Given the description of an element on the screen output the (x, y) to click on. 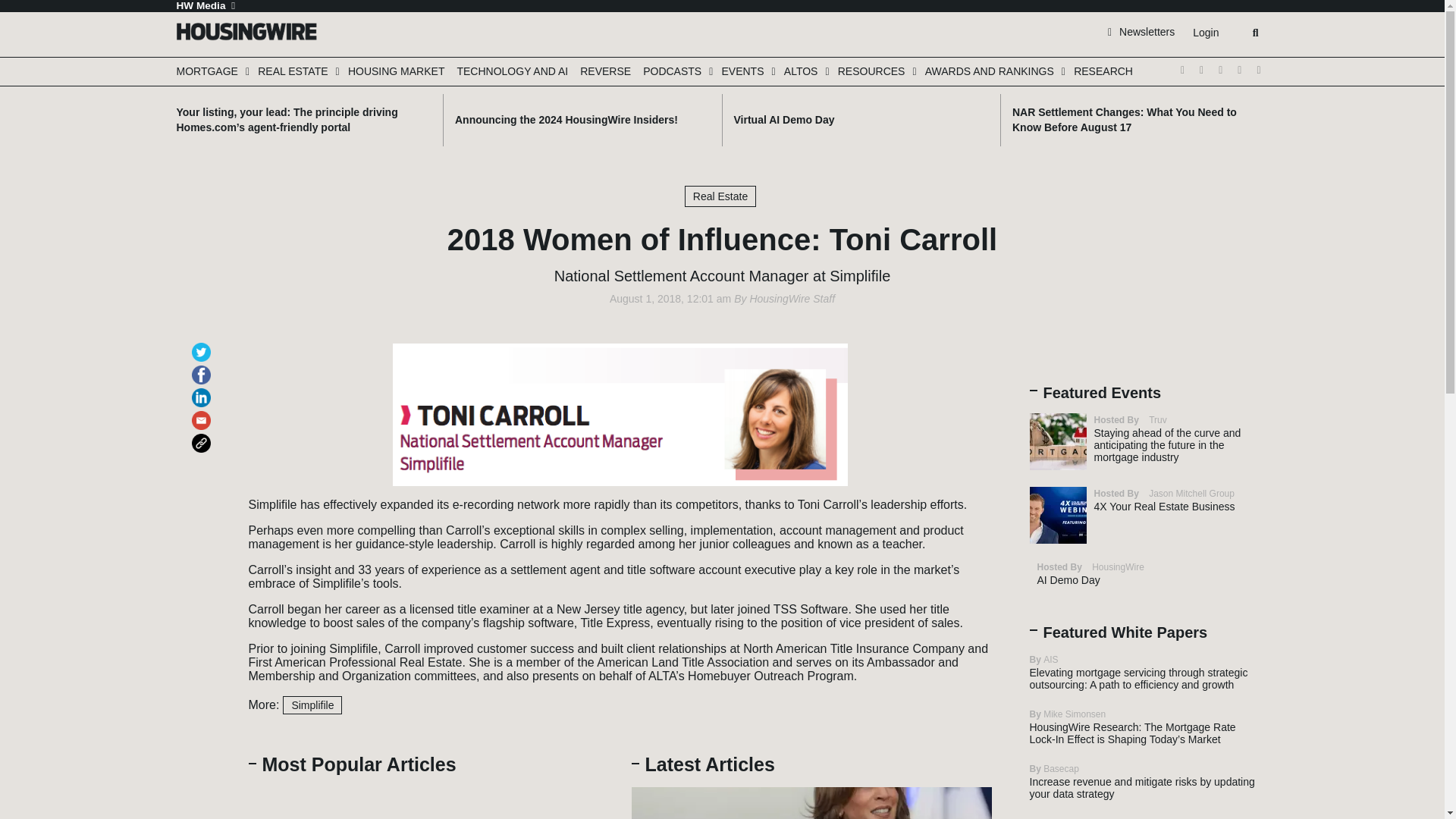
Click to share on Twitter (203, 345)
Click to share on Facebook (203, 368)
Posts by HousingWire Staff (791, 298)
Login (1205, 32)
Click to copy link (203, 436)
Click to share on LinkedIn (203, 390)
Click to email a link to a friend (203, 413)
Newsletters (1141, 31)
